Given the description of an element on the screen output the (x, y) to click on. 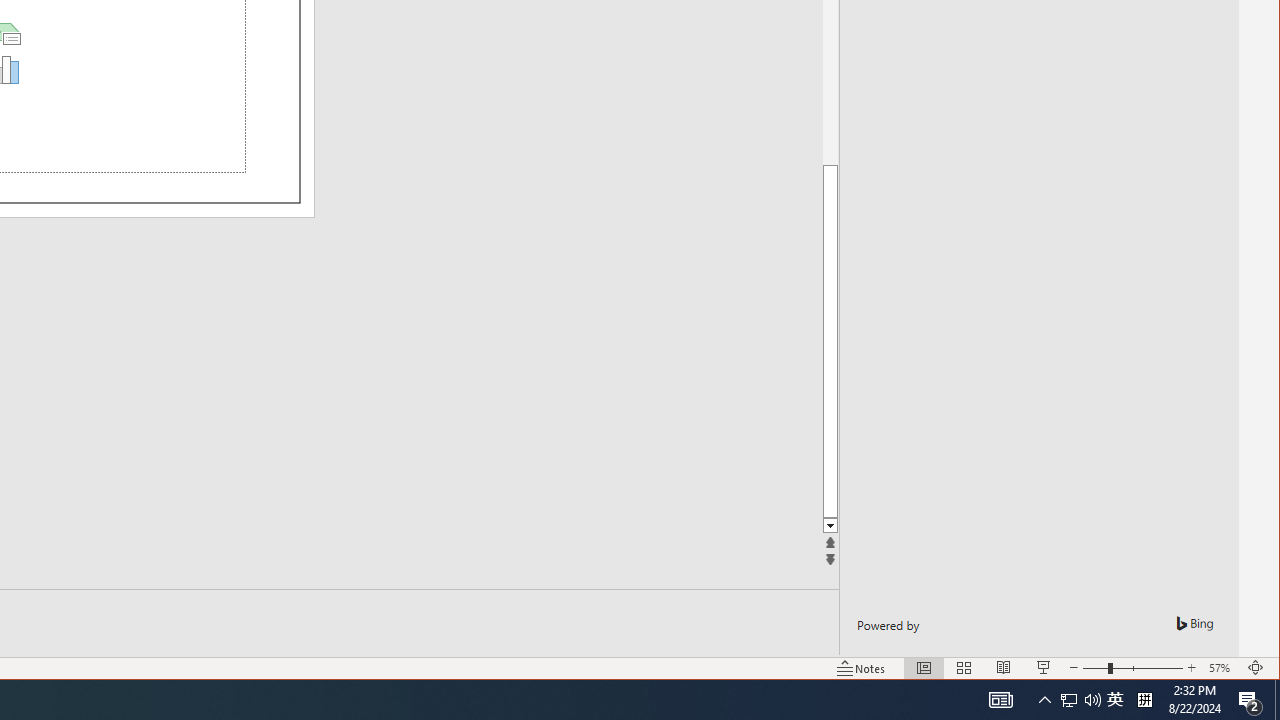
Zoom 57% (1222, 668)
